Given the description of an element on the screen output the (x, y) to click on. 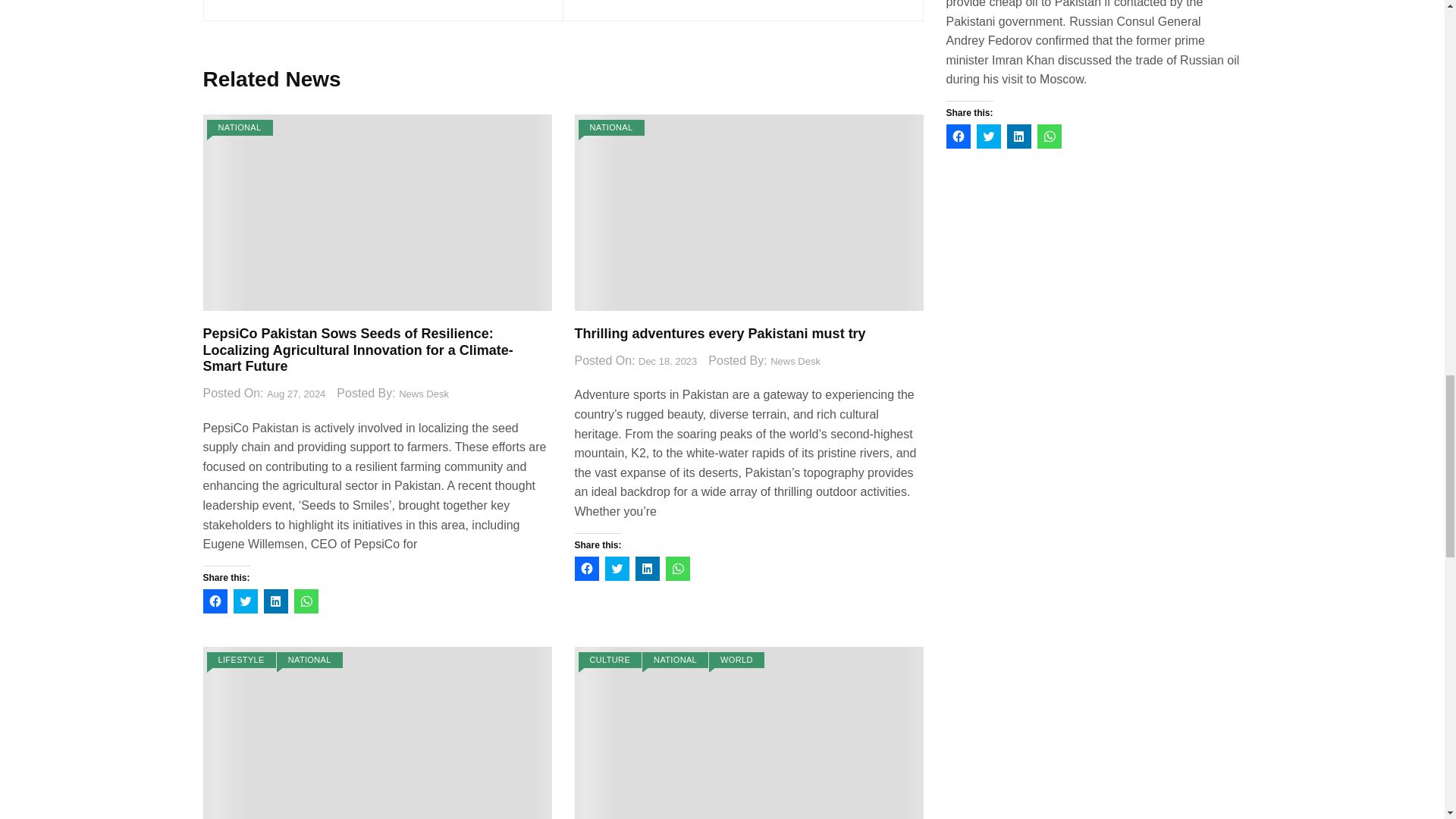
Prev Post (381, 2)
Click to share on LinkedIn (275, 600)
Next Post (742, 2)
Click to share on WhatsApp (306, 600)
Click to share on Twitter (244, 600)
Click to share on Facebook (215, 600)
